Given the description of an element on the screen output the (x, y) to click on. 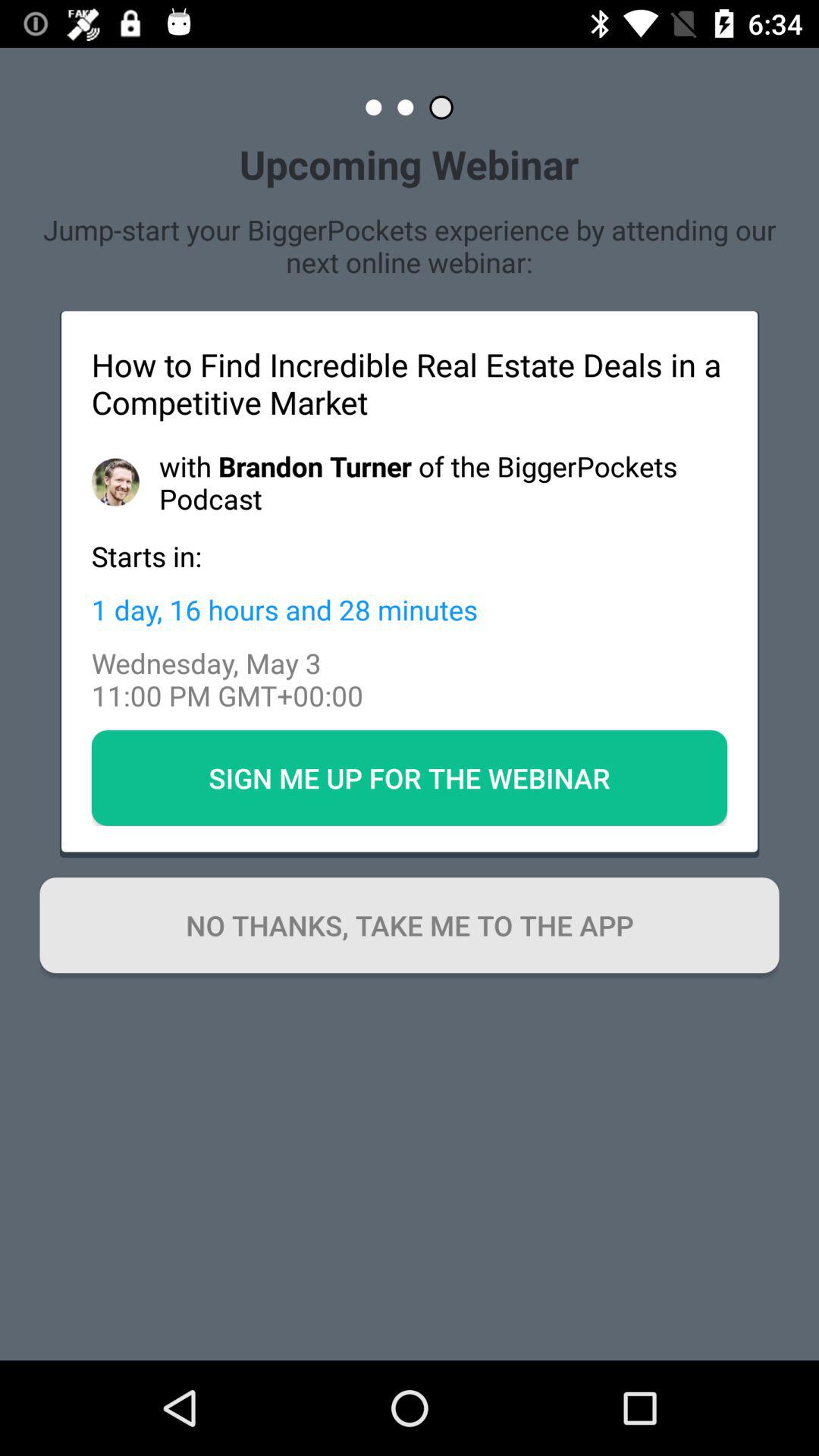
flip until no thanks take button (409, 925)
